Given the description of an element on the screen output the (x, y) to click on. 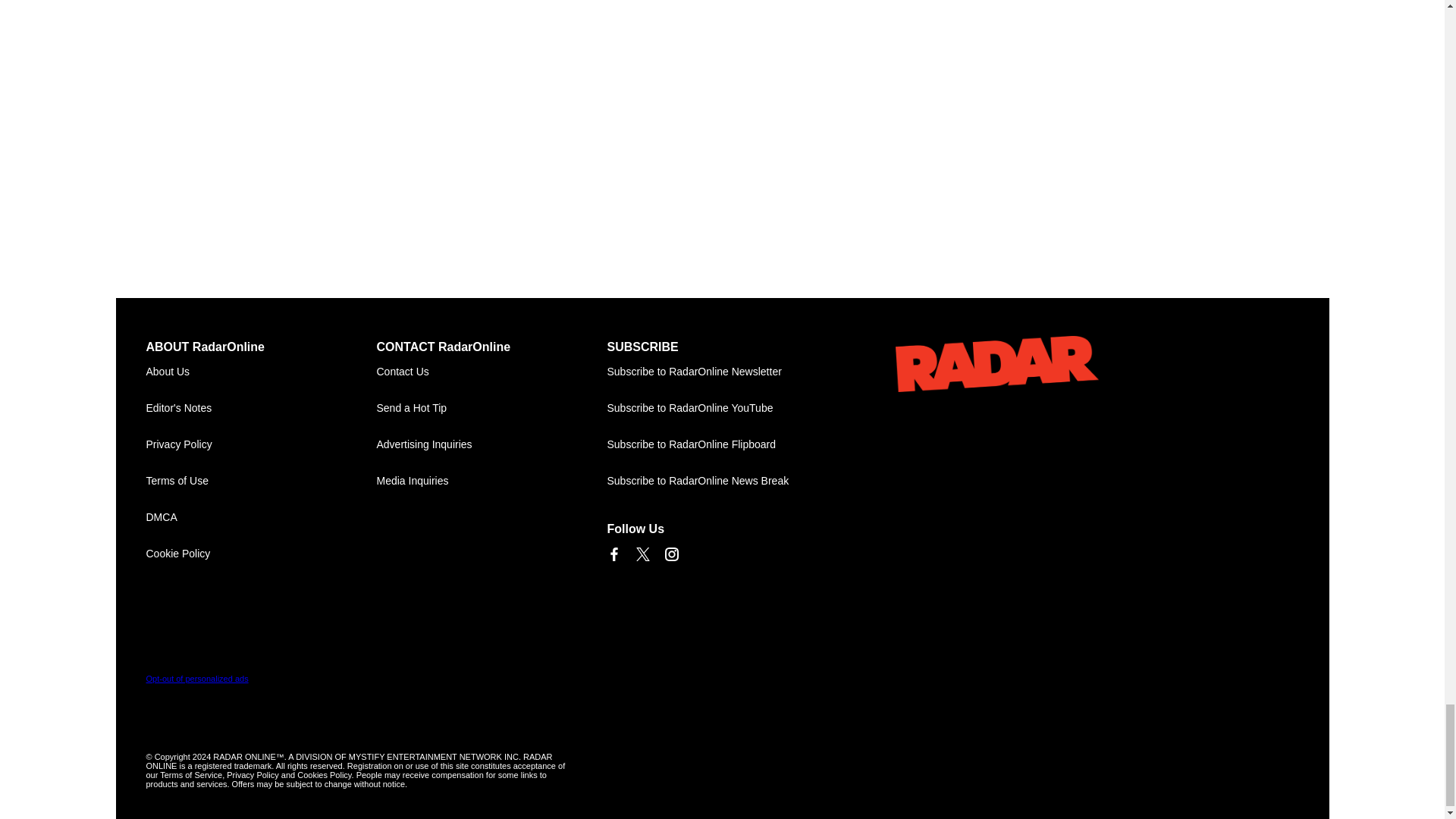
Contact Us (491, 371)
Link to X (641, 554)
DMCA (260, 517)
Link to Instagram (670, 554)
Subscribe (722, 371)
Media Inquiries (491, 481)
Cookie Policy (260, 554)
Advertising Inquiries (491, 444)
Link to Facebook (613, 554)
Privacy Policy (260, 444)
